Given the description of an element on the screen output the (x, y) to click on. 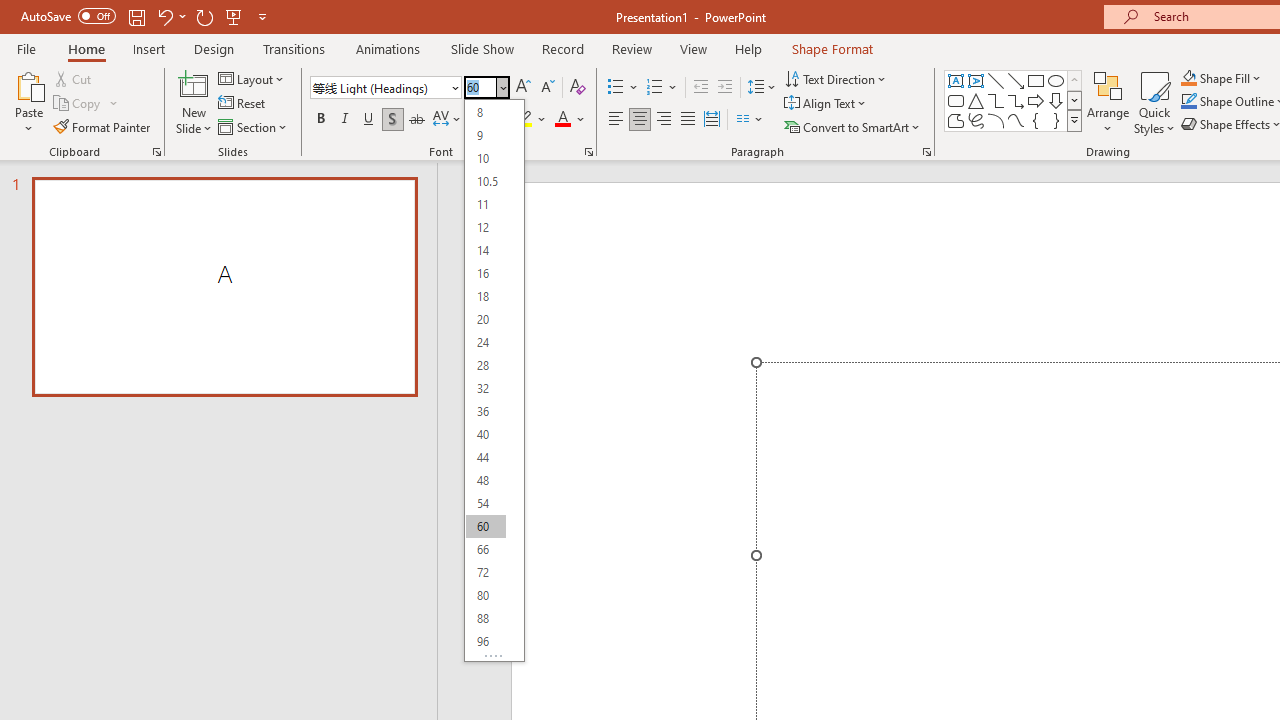
32 (485, 388)
28 (485, 365)
12 (485, 227)
24 (485, 342)
